Given the description of an element on the screen output the (x, y) to click on. 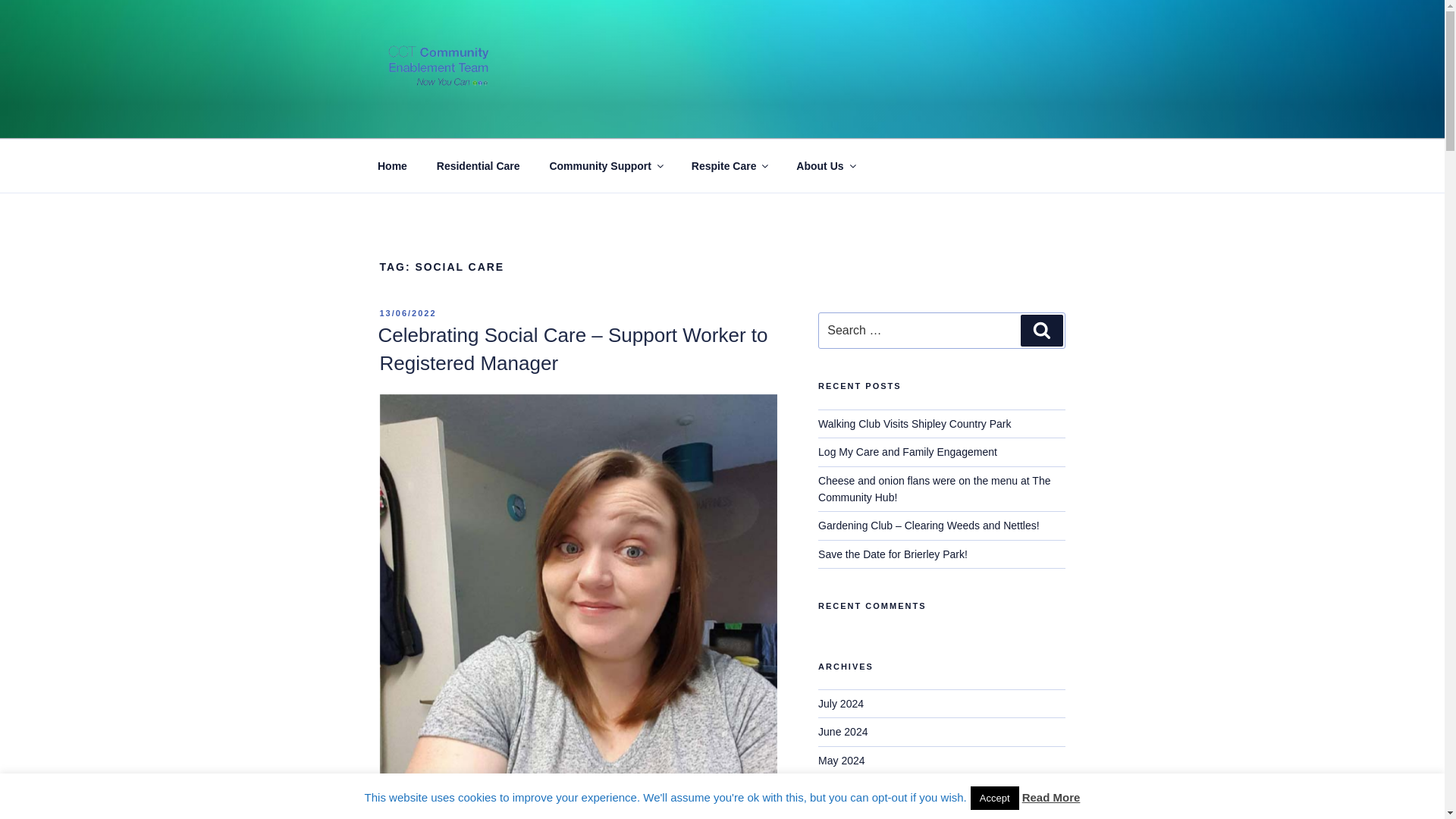
March 2024 (846, 815)
July 2024 (840, 703)
Search (1041, 330)
Residential Care (477, 165)
About Us (825, 165)
Home (392, 165)
Walking Club Visits Shipley Country Park (914, 423)
COMMUNITY ENABLEMENT TEAM (630, 119)
June 2024 (842, 731)
April 2024 (842, 788)
Respite Care (729, 165)
Save the Date for Brierley Park! (893, 553)
Log My Care and Family Engagement (907, 451)
Community Support (605, 165)
